Given the description of an element on the screen output the (x, y) to click on. 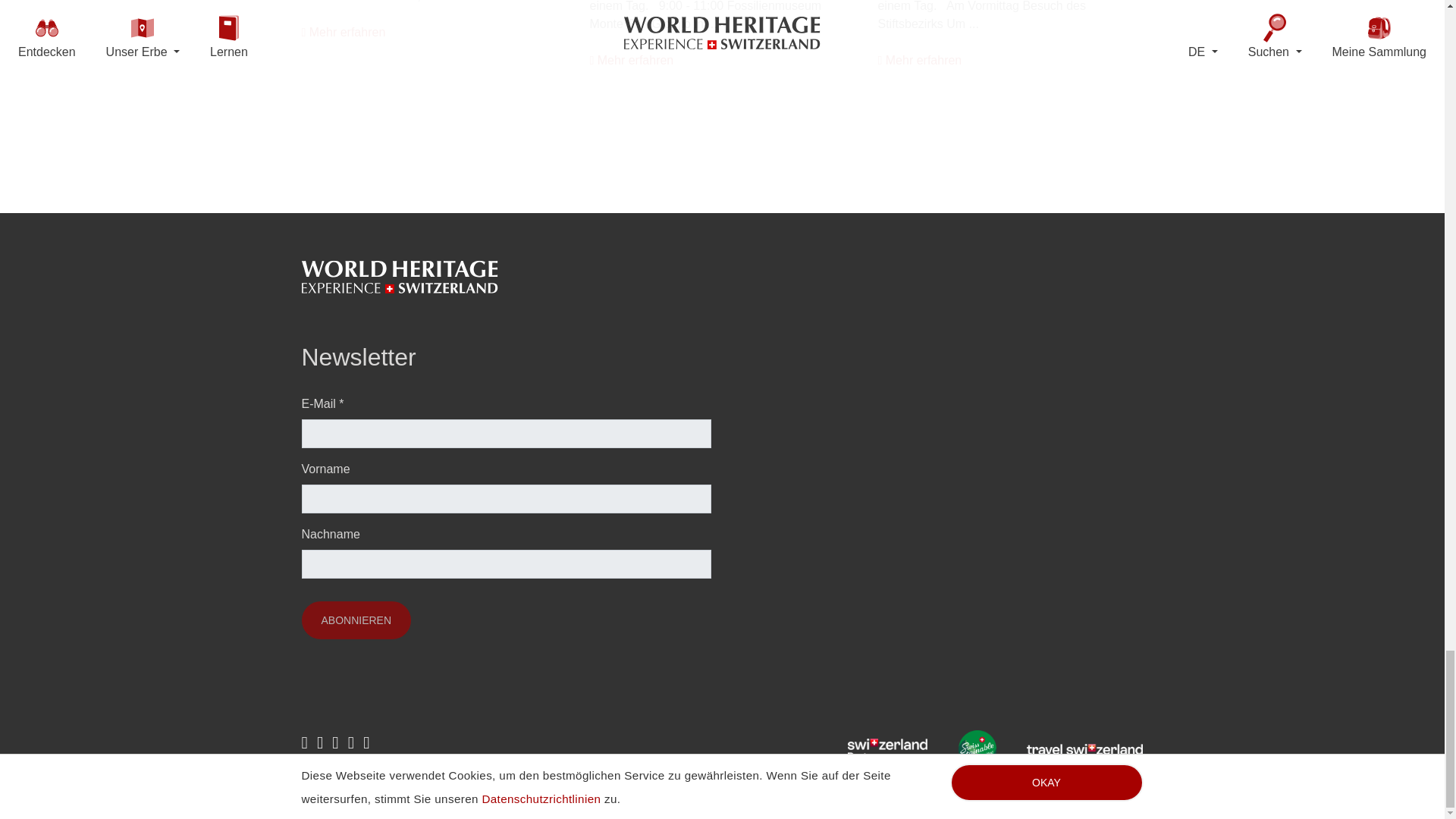
Abonnieren (356, 620)
